Given the description of an element on the screen output the (x, y) to click on. 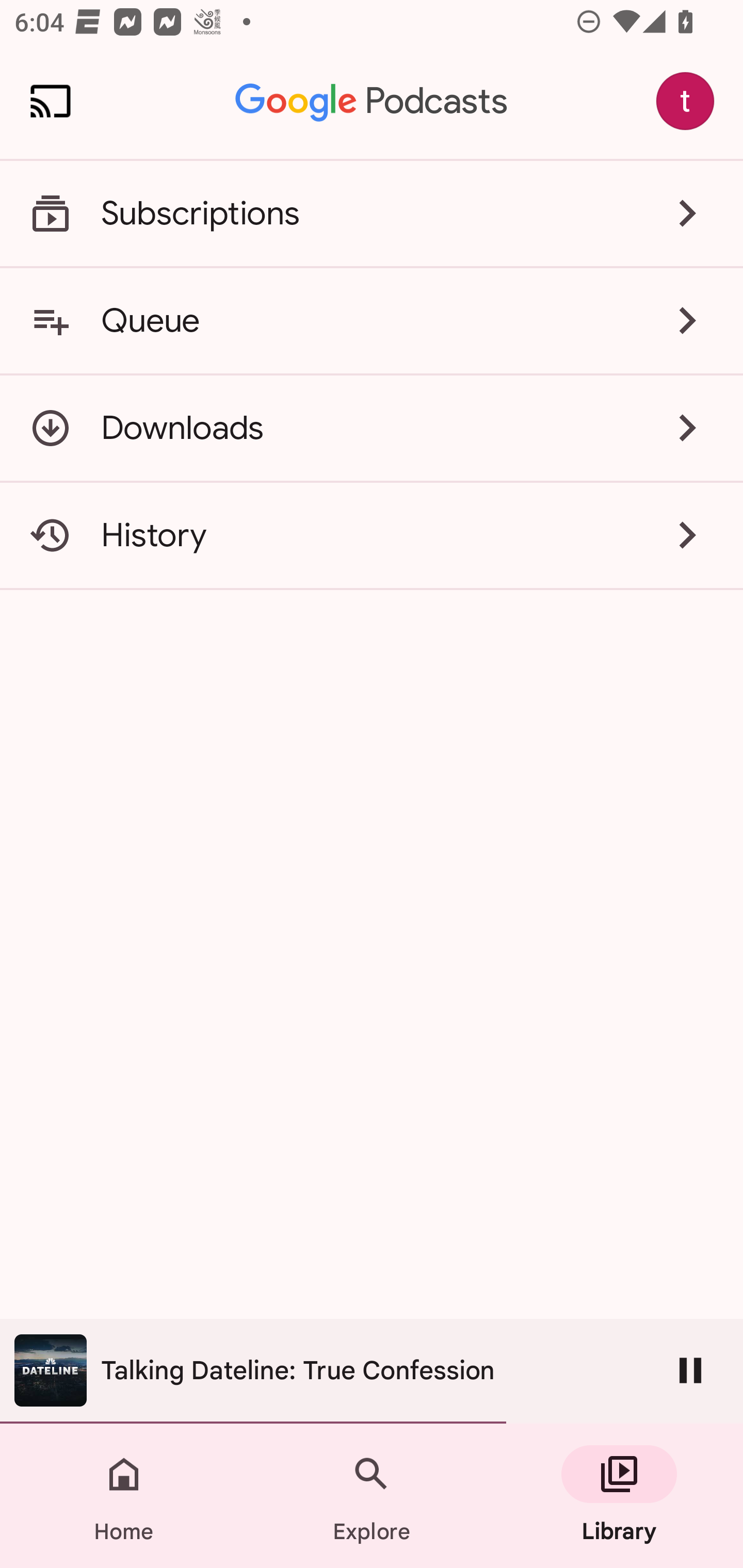
Cast. Disconnected (50, 101)
Subscriptions (371, 213)
Queue (371, 320)
Downloads (371, 427)
History (371, 535)
Pause (690, 1370)
Home (123, 1495)
Explore (371, 1495)
